Given the description of an element on the screen output the (x, y) to click on. 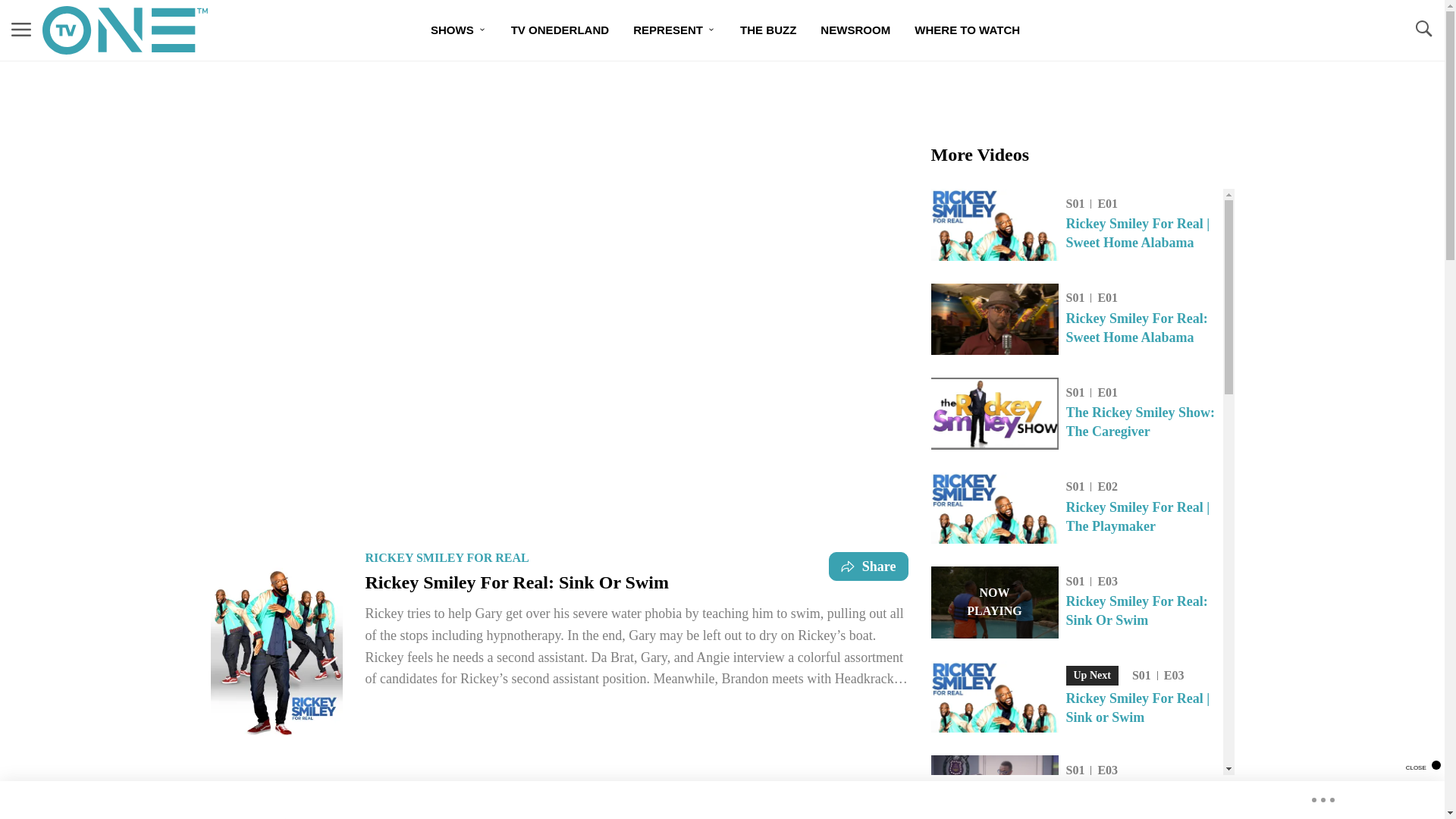
Rickey Smiley For Real: Sweet Home Alabama (1144, 328)
TV ONEDERLAND (560, 30)
RICKEY SMILEY FOR REAL (994, 602)
Rickey Smiley For Real: Sink Or Swim (447, 556)
NEWSROOM (1144, 610)
REPRESENT (855, 30)
TOGGLE SEARCH (674, 30)
TOGGLE SEARCH (1422, 28)
SHOWS (1422, 30)
WHERE TO WATCH (459, 30)
THE BUZZ (967, 30)
The Rickey Smiley Show: The Caregiver (768, 30)
MENU (1144, 422)
Share (20, 30)
